Given the description of an element on the screen output the (x, y) to click on. 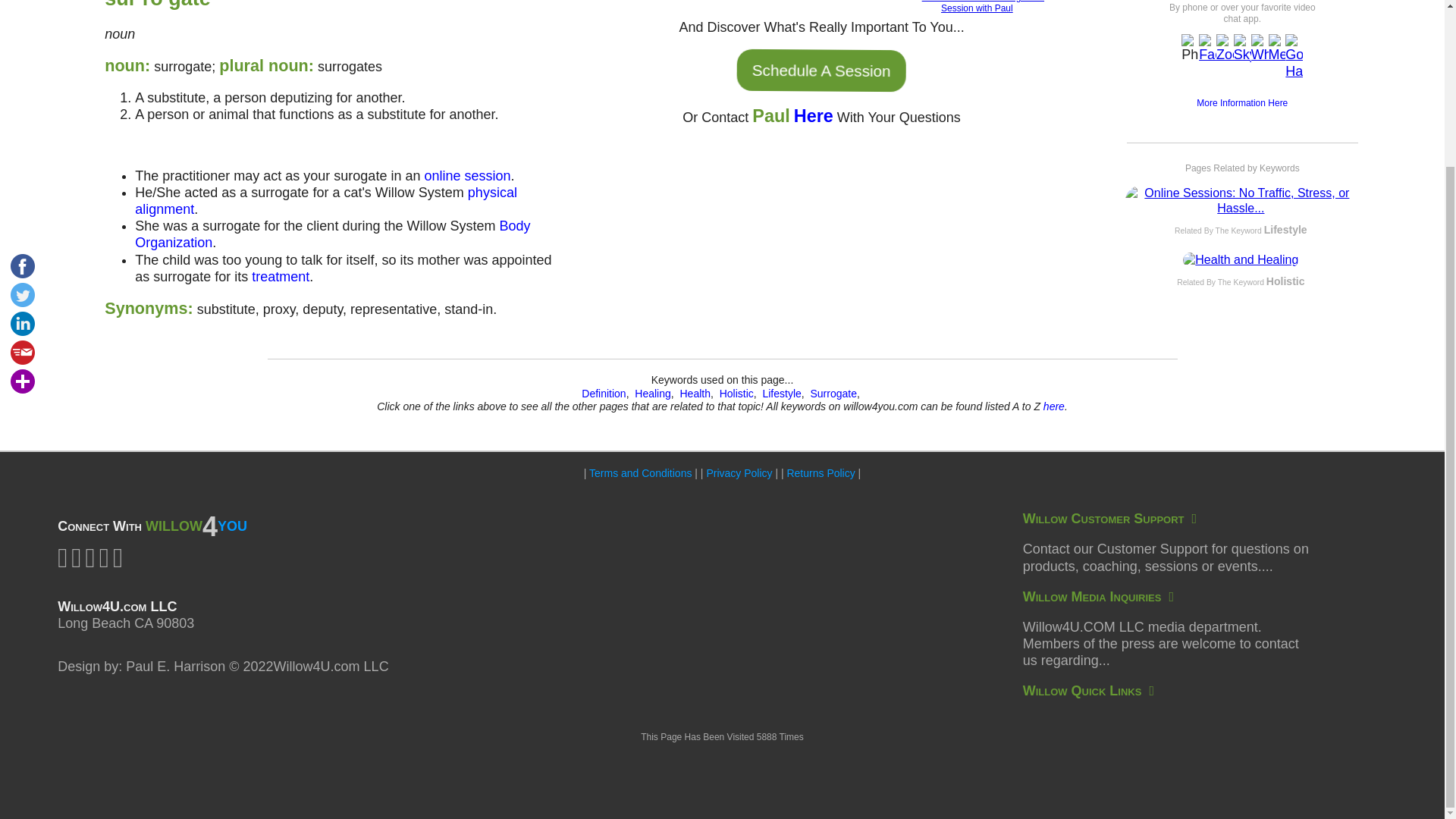
More Balanced With a Body Organization (332, 234)
A practitioner may act as a surogate (467, 175)
Inquiries (1098, 596)
Customer Support (1109, 518)
Willow Links (1088, 690)
